Given the description of an element on the screen output the (x, y) to click on. 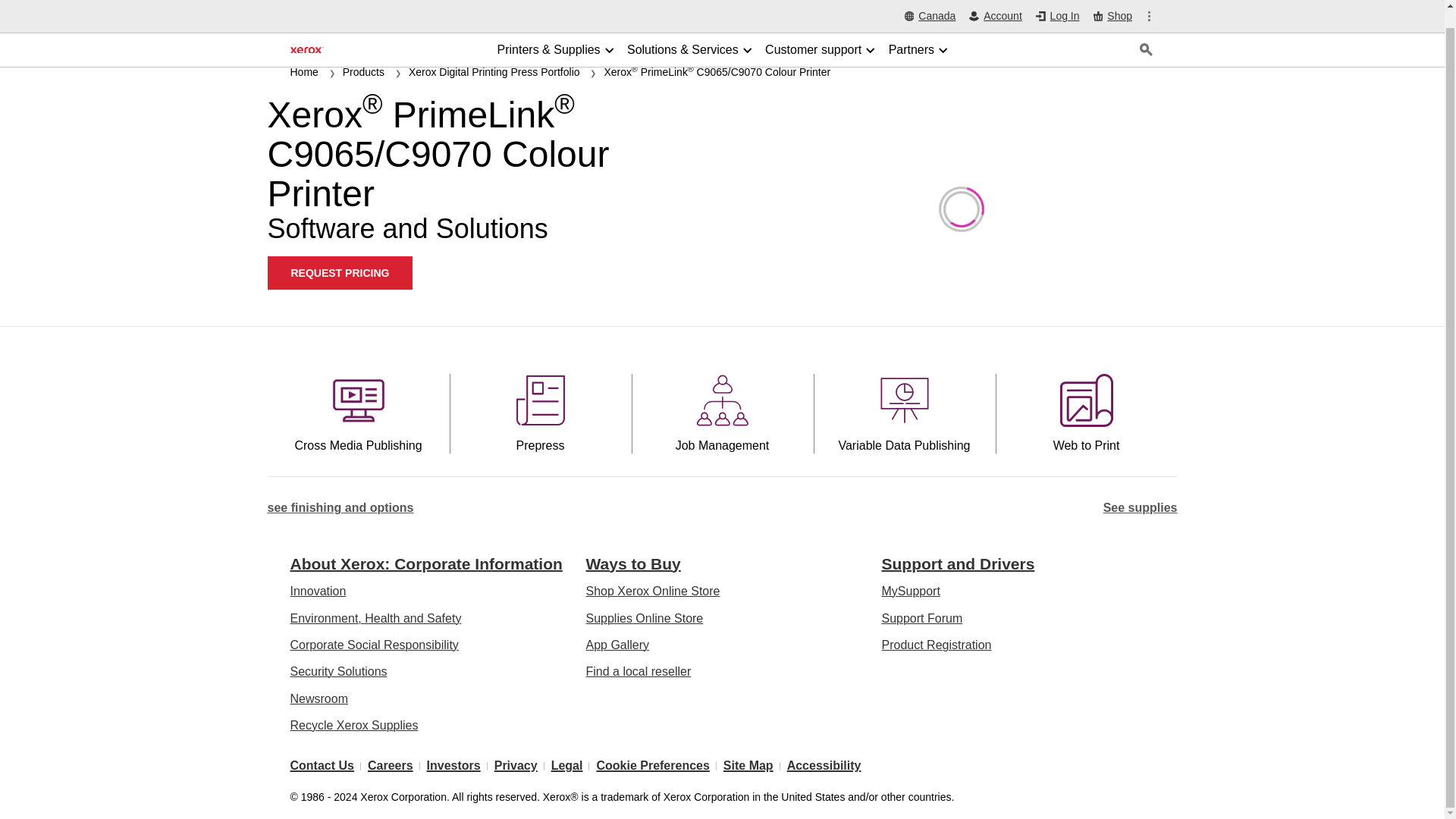
Canada (930, 2)
Shop (1112, 3)
Log In (1057, 2)
Account (995, 2)
Skip to main content (18, 10)
